Given the description of an element on the screen output the (x, y) to click on. 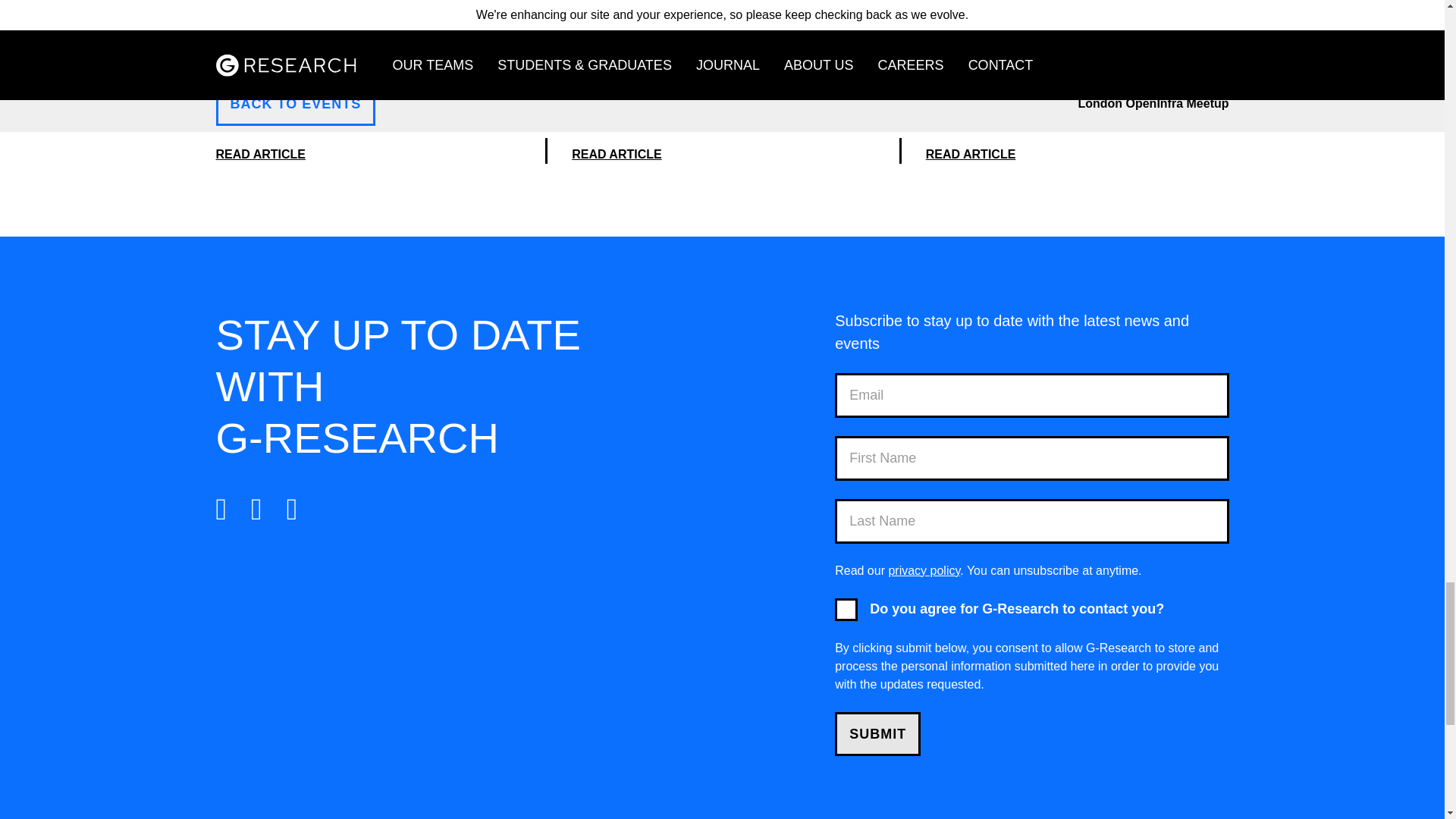
Submit (877, 733)
Submit (877, 733)
privacy policy (923, 570)
READ ARTICLE (368, 154)
READ ARTICLE (723, 154)
READ ARTICLE (1077, 154)
